Given the description of an element on the screen output the (x, y) to click on. 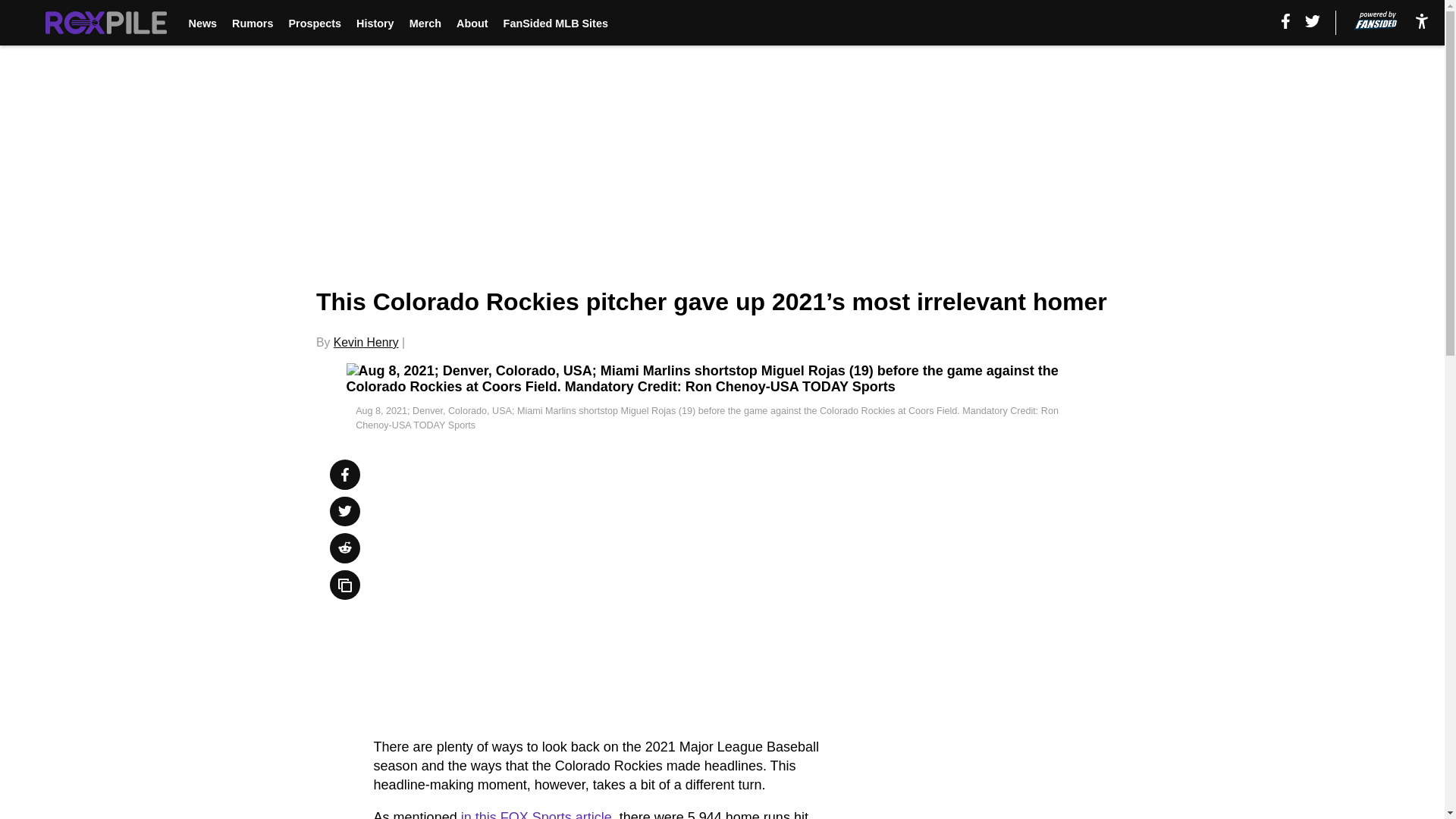
in this FOX Sports article (536, 814)
History (375, 23)
Prospects (314, 23)
Kevin Henry (365, 341)
Rumors (252, 23)
Merch (425, 23)
FanSided MLB Sites (555, 23)
About (472, 23)
News (201, 23)
